Given the description of an element on the screen output the (x, y) to click on. 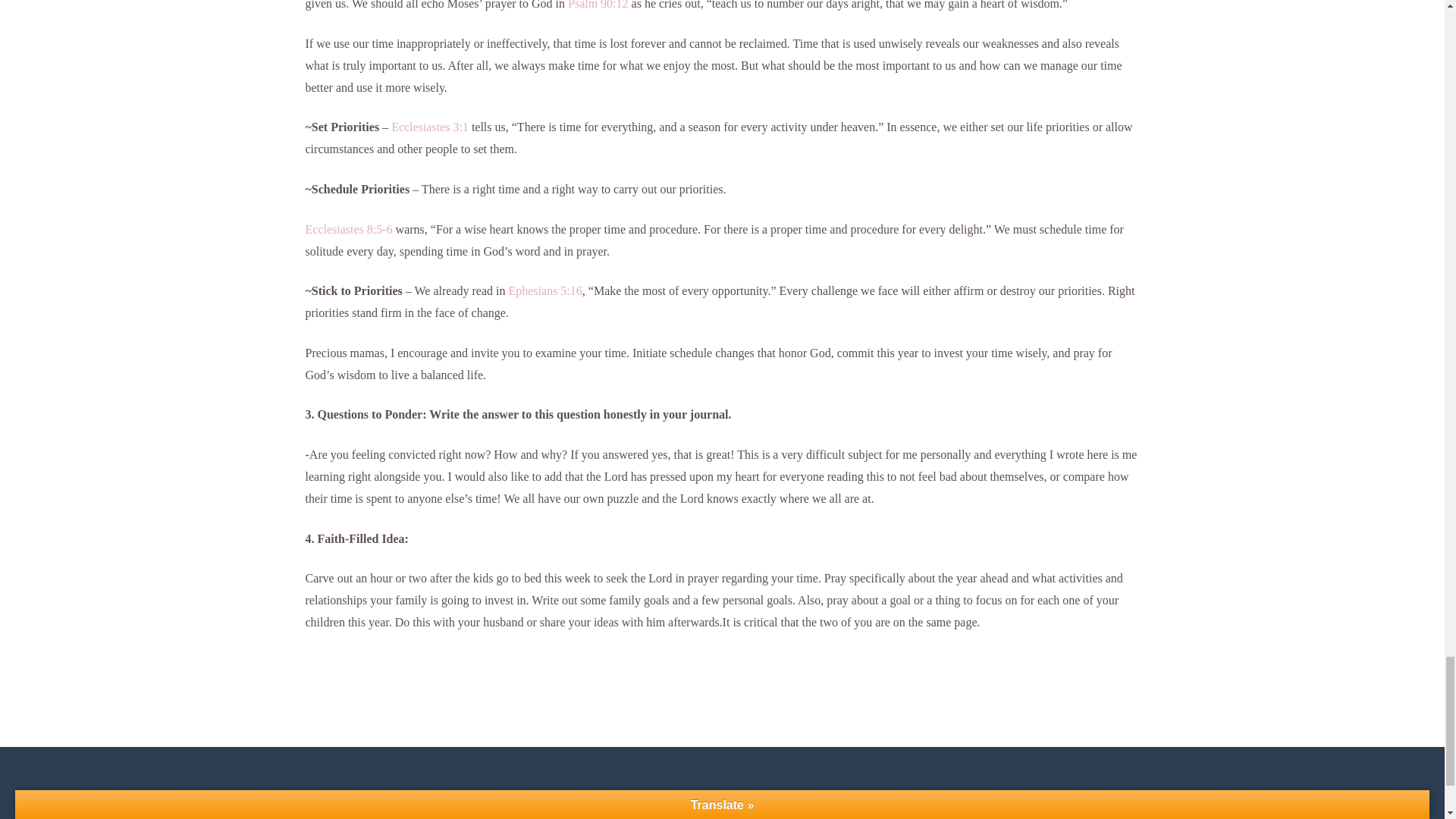
Facebook (628, 809)
Psalm 90:12 (597, 4)
Ecclesiastes 8:5-6 (347, 228)
Ecclesiastes 3:1 (429, 126)
Instagram (752, 809)
YouTube (691, 809)
Pinterest (814, 809)
Ephesians 5:16 (544, 290)
